Given the description of an element on the screen output the (x, y) to click on. 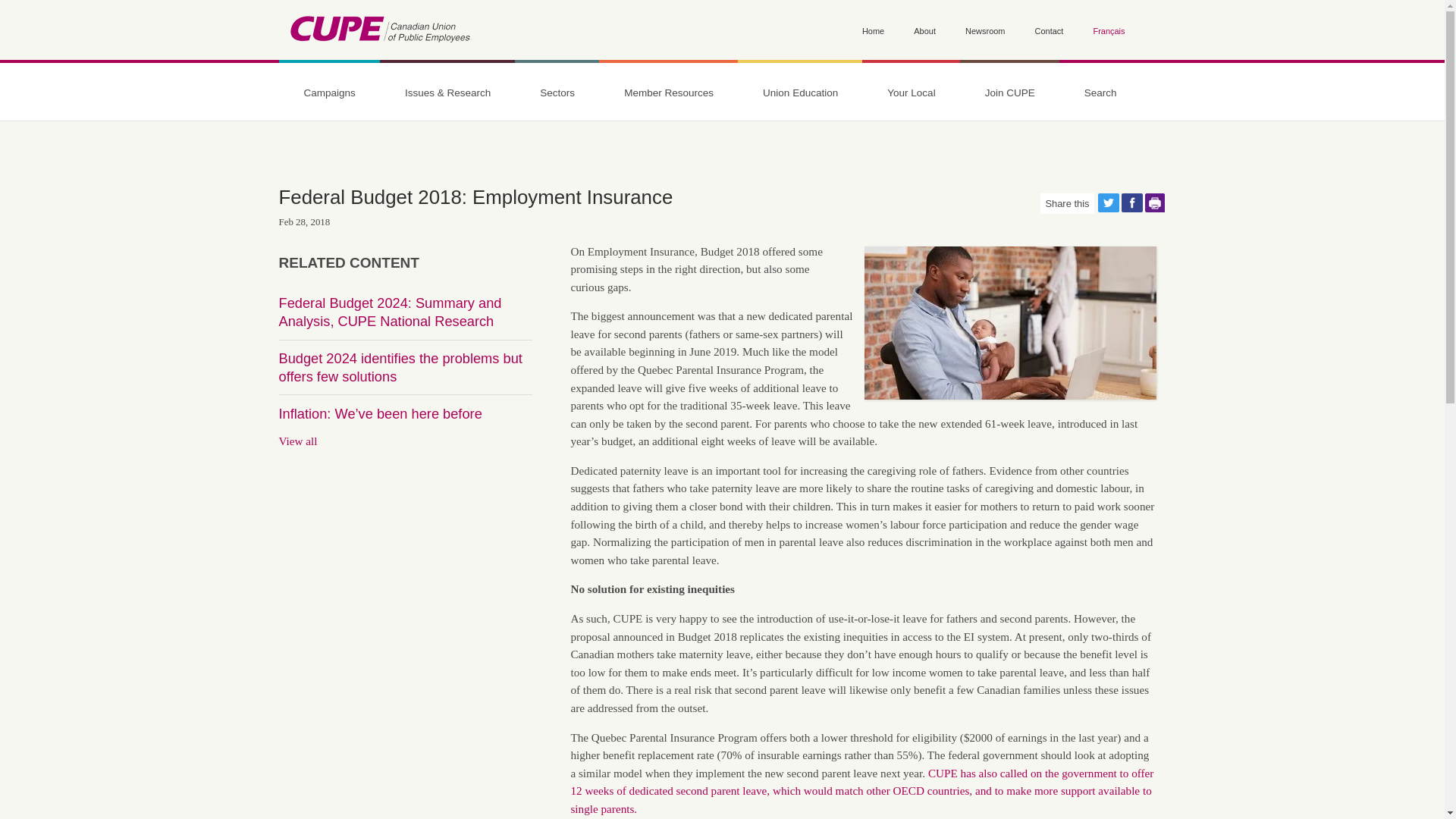
Search (300, 201)
Contact (1049, 31)
View all (298, 440)
Campaigns (328, 92)
Share this page on Twitter (1108, 202)
About (924, 31)
Sectors (557, 92)
Budget 2024 identifies the problems but offers few solutions (400, 367)
